Given the description of an element on the screen output the (x, y) to click on. 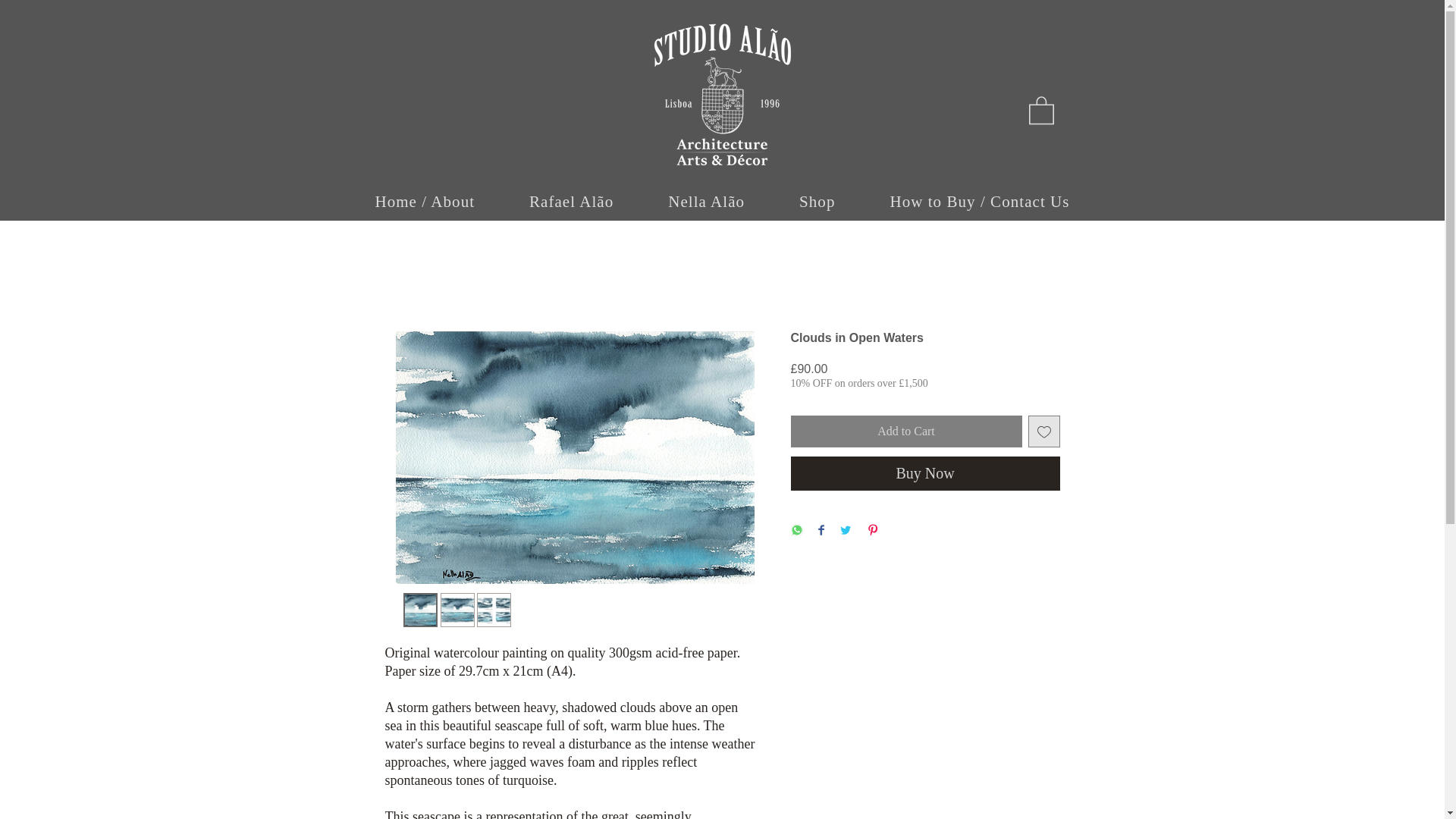
Studio Alao logo verB 300ppi white.png (721, 94)
Buy Now (924, 473)
Add to Cart (906, 431)
Shop (816, 201)
